Given the description of an element on the screen output the (x, y) to click on. 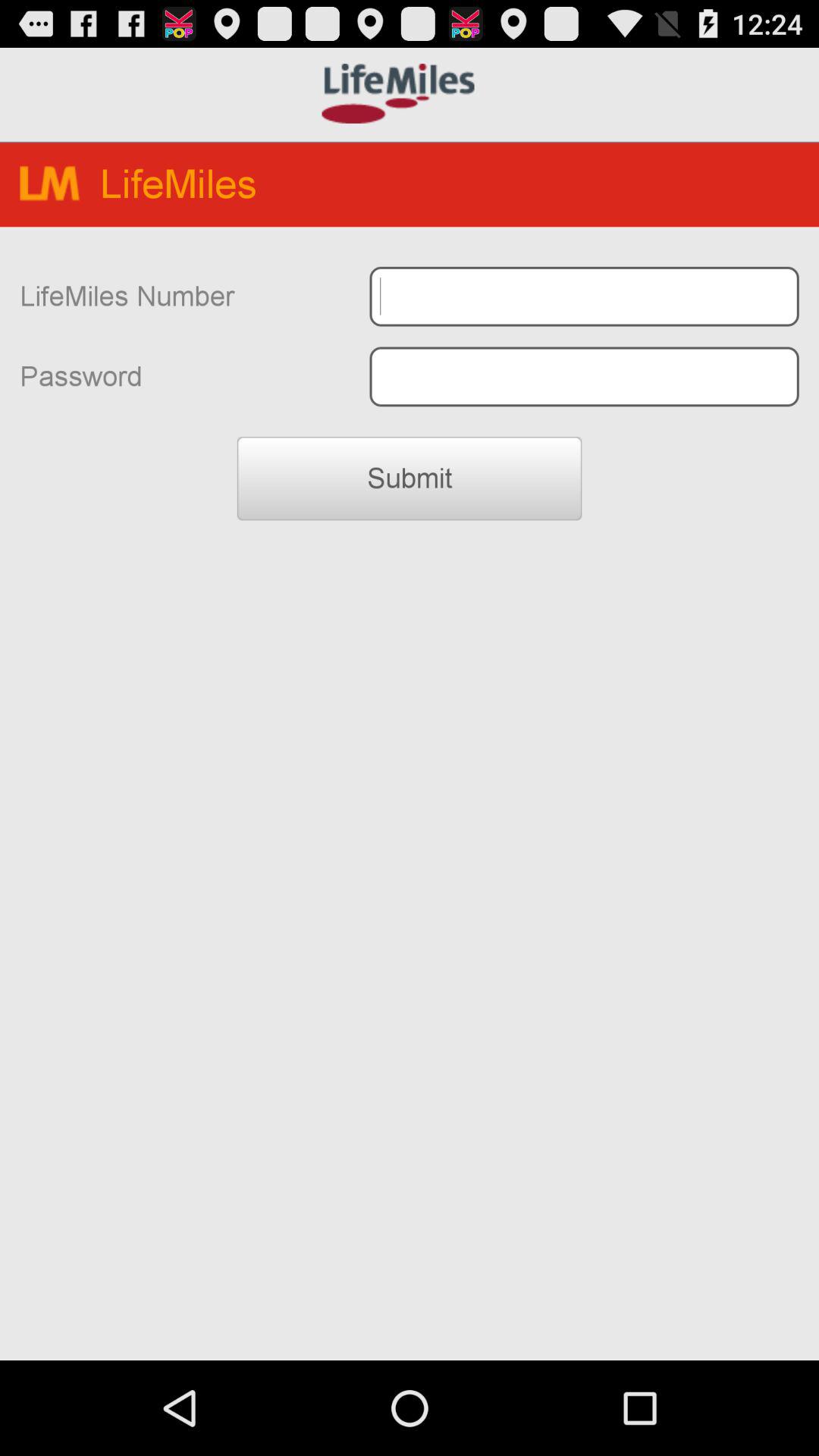
typing box (584, 296)
